Given the description of an element on the screen output the (x, y) to click on. 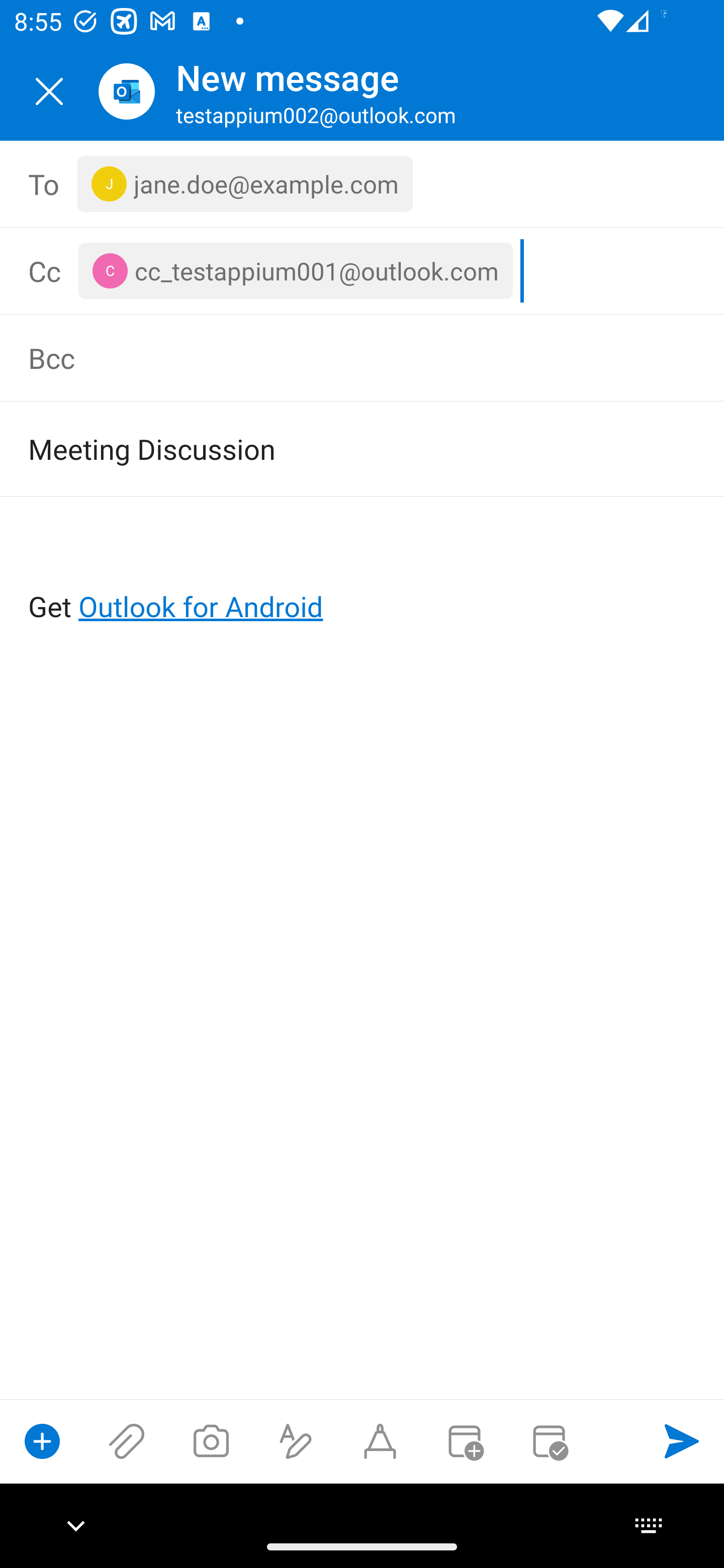
Close (49, 91)
To, 1 recipient <jane.doe@example.com> (362, 184)
Cc, 1 recipient <cc_testappium001@outlook.com> (384, 270)
Meeting Discussion (333, 448)


Get Outlook for Android (363, 573)
Show compose options (42, 1440)
Attach files (126, 1440)
Take a photo (210, 1440)
Show formatting options (295, 1440)
Start Ink compose (380, 1440)
Convert to event (464, 1440)
Send availability (548, 1440)
Send (681, 1440)
